Given the description of an element on the screen output the (x, y) to click on. 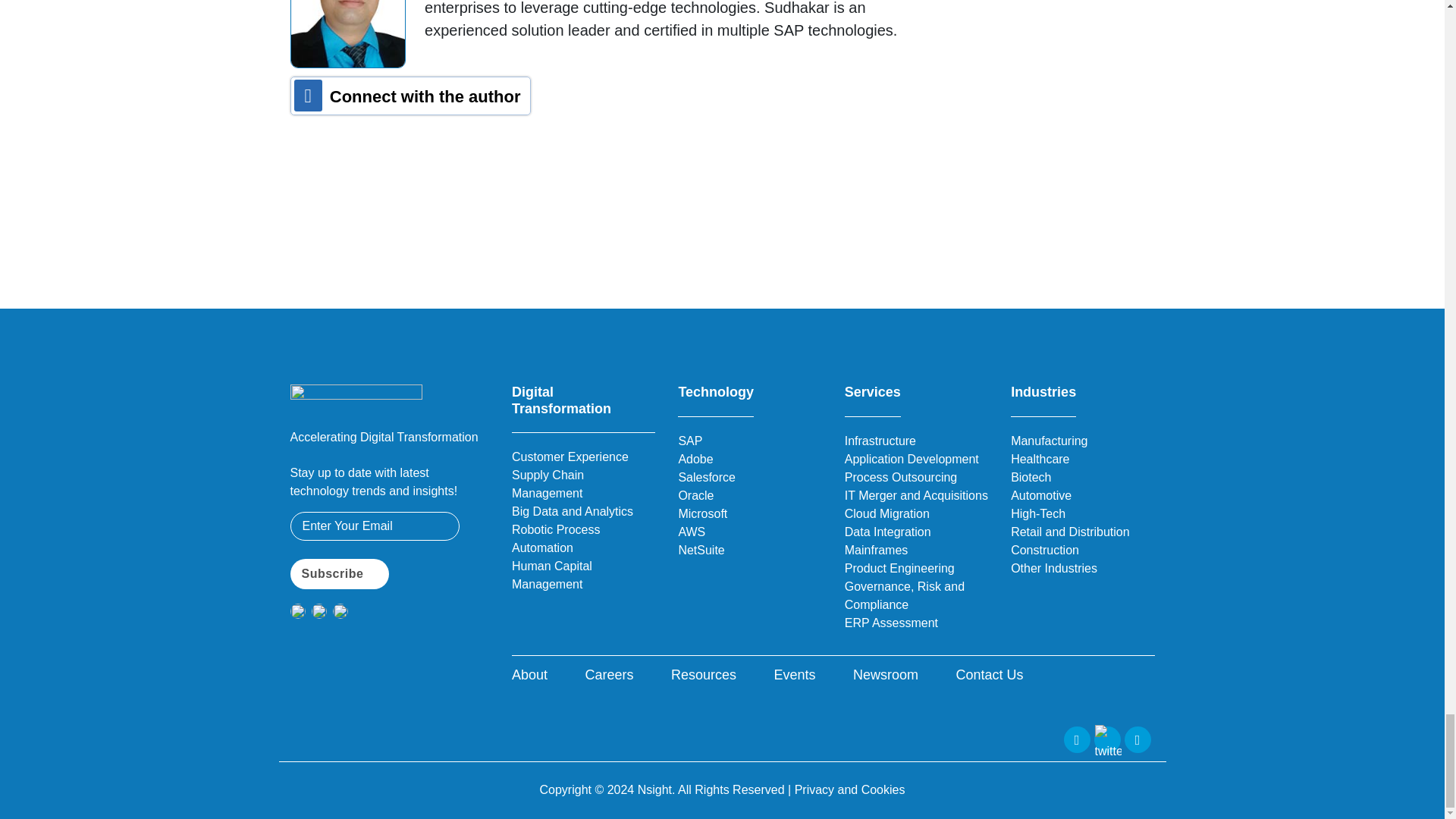
Subscribe (338, 573)
